Given the description of an element on the screen output the (x, y) to click on. 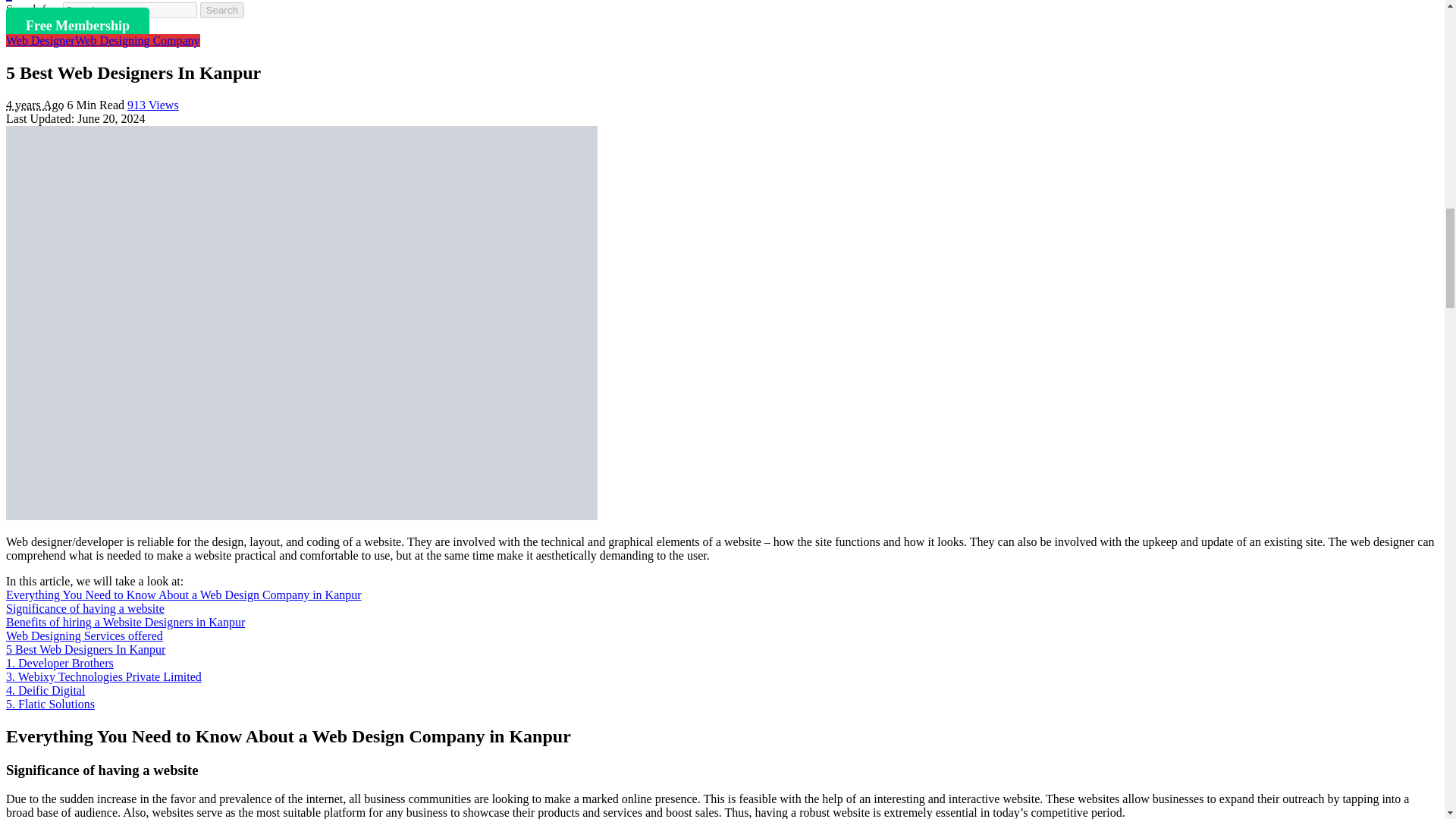
Search (222, 10)
Search (222, 10)
